Given the description of an element on the screen output the (x, y) to click on. 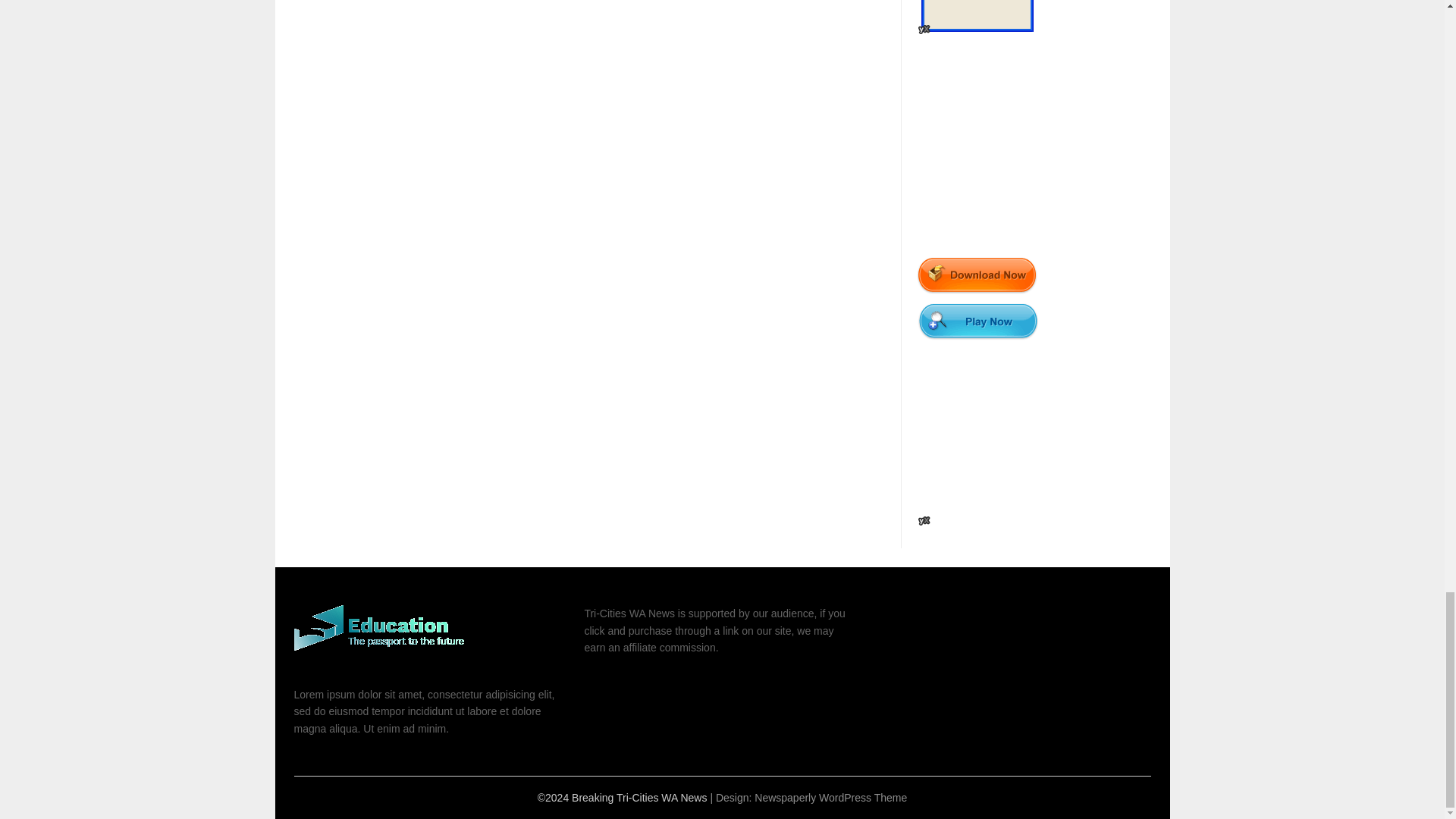
Newspaperly WordPress Theme (830, 797)
